Given the description of an element on the screen output the (x, y) to click on. 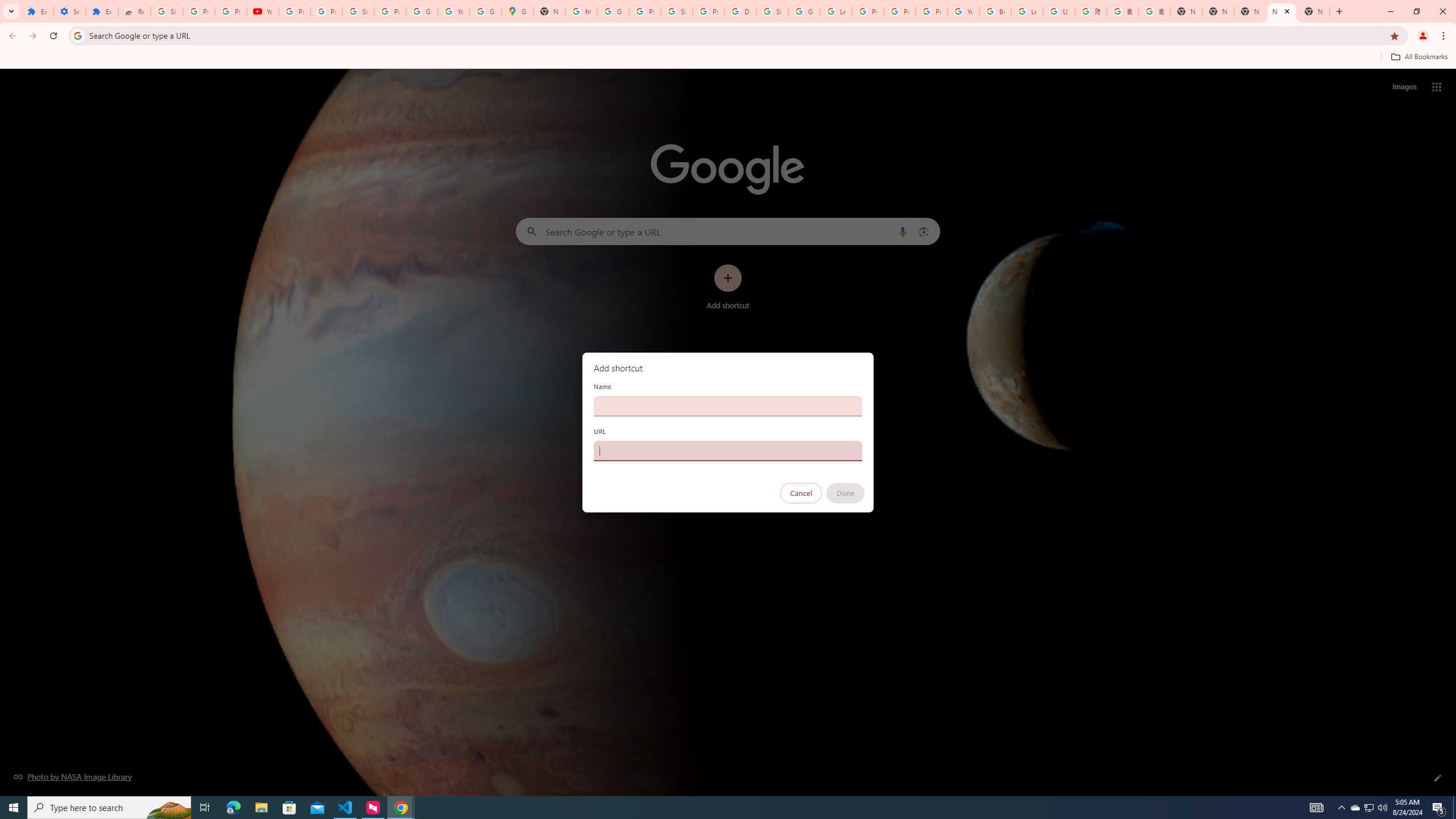
Sign in - Google Accounts (358, 11)
URL (727, 450)
Google Maps (517, 11)
Google Account (421, 11)
Delete specific Google services or your Google Account (740, 11)
Reviews: Helix Fruit Jump Arcade Game (134, 11)
Cancel (801, 493)
